Given the description of an element on the screen output the (x, y) to click on. 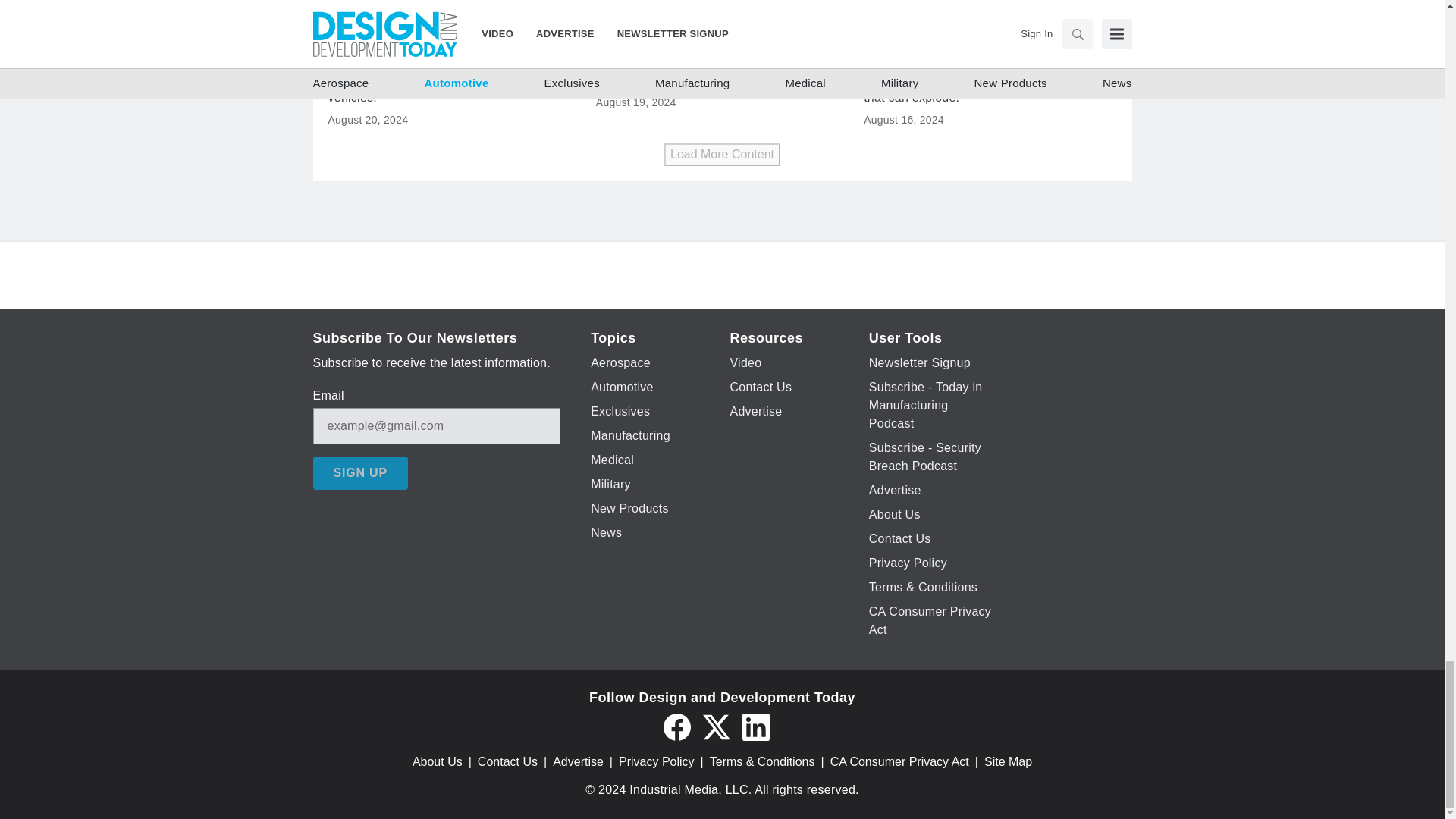
Twitter X icon (715, 727)
Facebook icon (676, 727)
LinkedIn icon (754, 727)
